Given the description of an element on the screen output the (x, y) to click on. 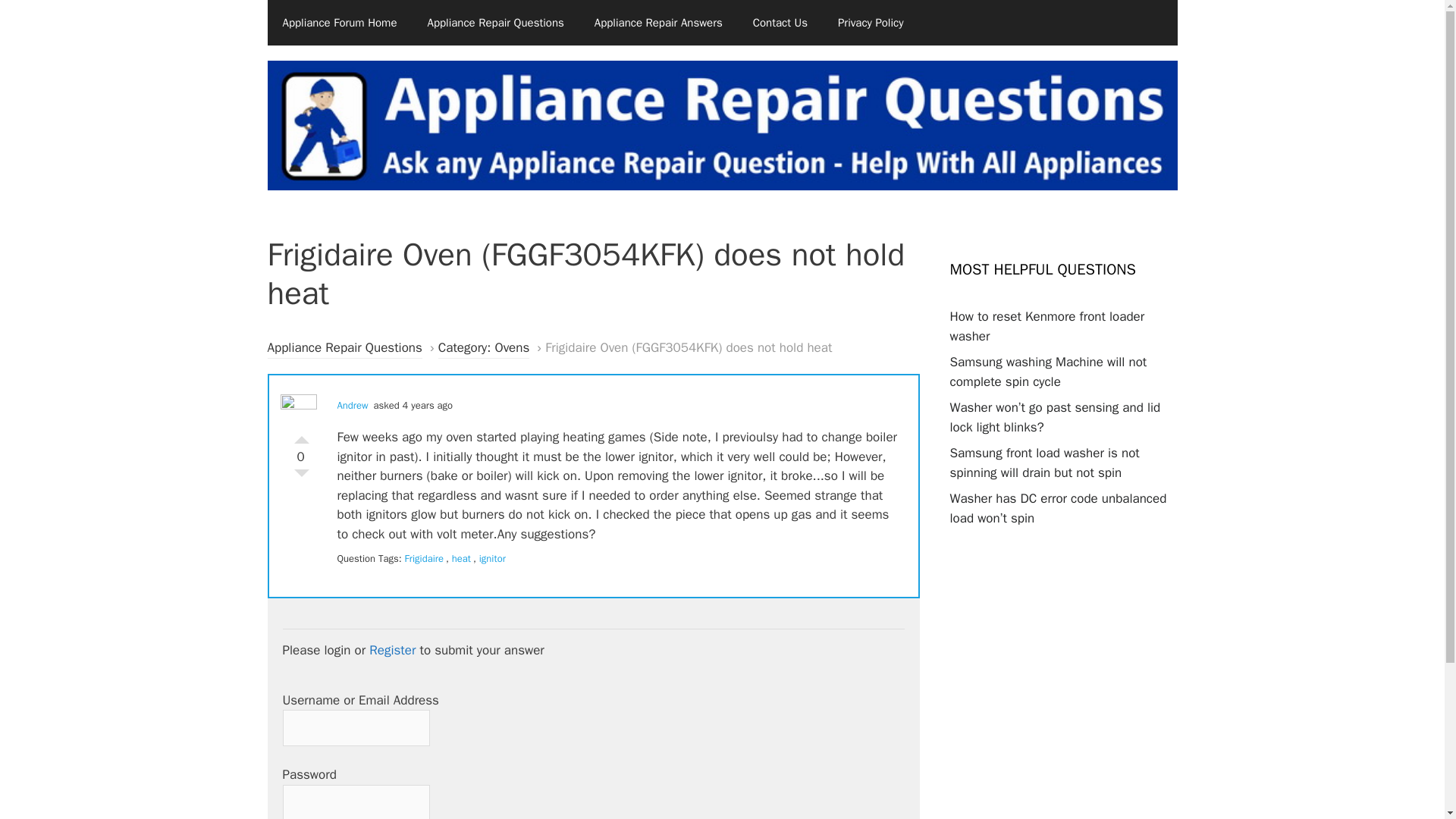
Register (391, 650)
Privacy Policy (870, 22)
Frigidaire (424, 558)
Category: Ovens (483, 348)
Appliance Repair Answers (658, 22)
Contact Us (780, 22)
Vote Up (301, 435)
Appliance Repair Questions (344, 348)
Andrew (352, 404)
Vote Down (301, 476)
